Given the description of an element on the screen output the (x, y) to click on. 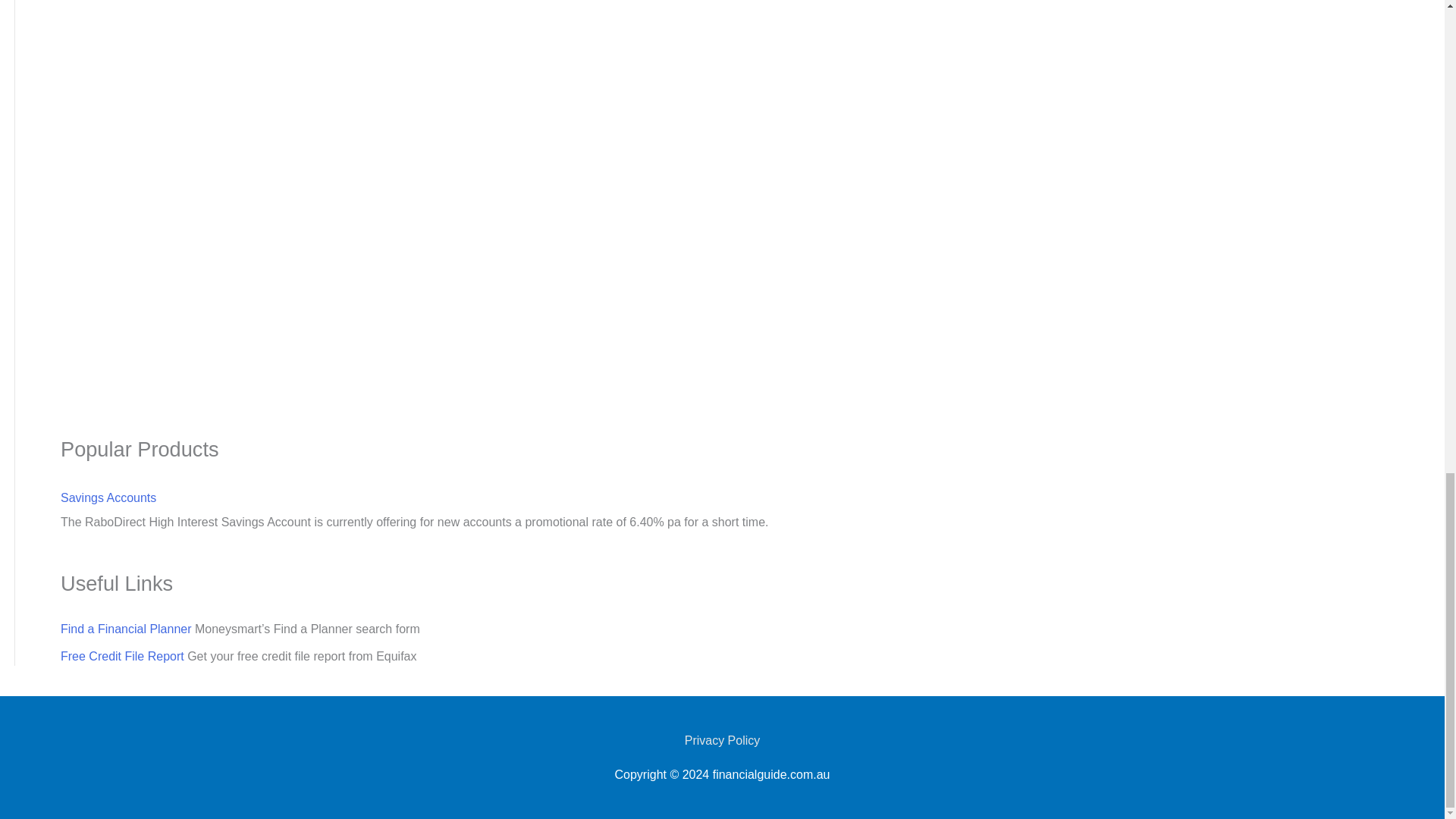
Get your free credit file report from Equifax (122, 656)
